Given the description of an element on the screen output the (x, y) to click on. 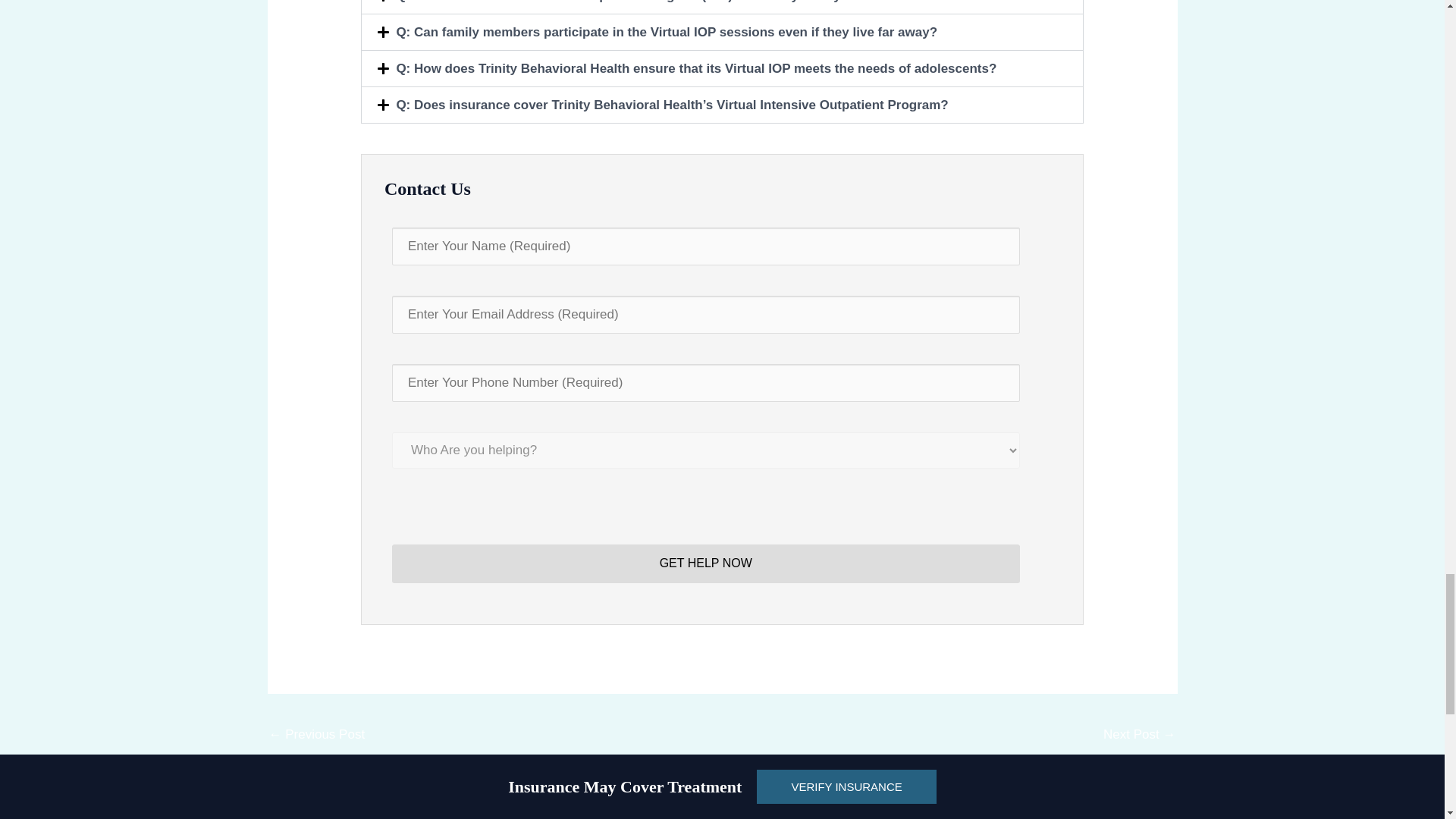
Get Help Now (705, 563)
Get Help Now (705, 563)
